Given the description of an element on the screen output the (x, y) to click on. 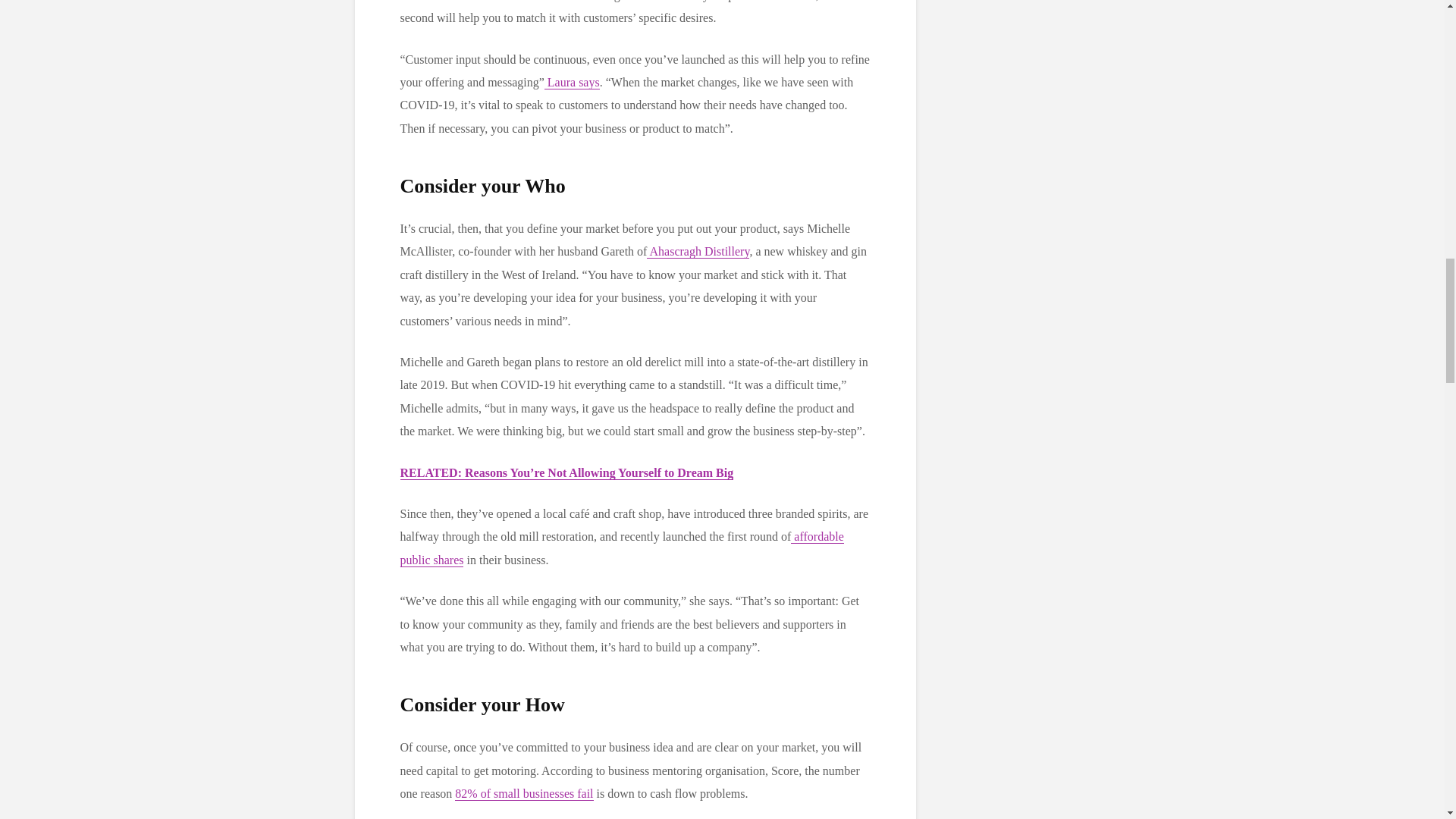
affordable public shares (622, 547)
Ahascragh Distillery (697, 251)
Laura says (571, 82)
